Given the description of an element on the screen output the (x, y) to click on. 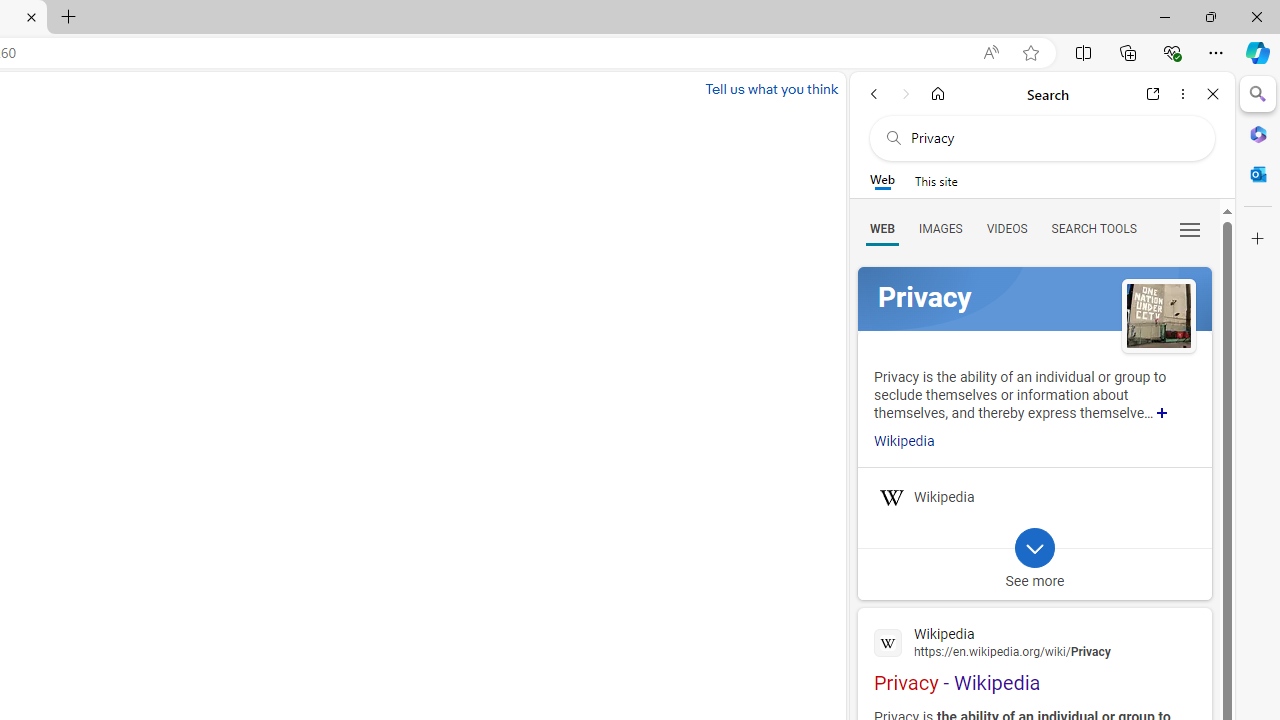
Class: b_serphb (1190, 229)
Search Filter, WEB (882, 228)
Show more (1162, 412)
Class: b_exp_chevron_svg b_expmob_chev (1034, 547)
Customize (1258, 239)
